Given the description of an element on the screen output the (x, y) to click on. 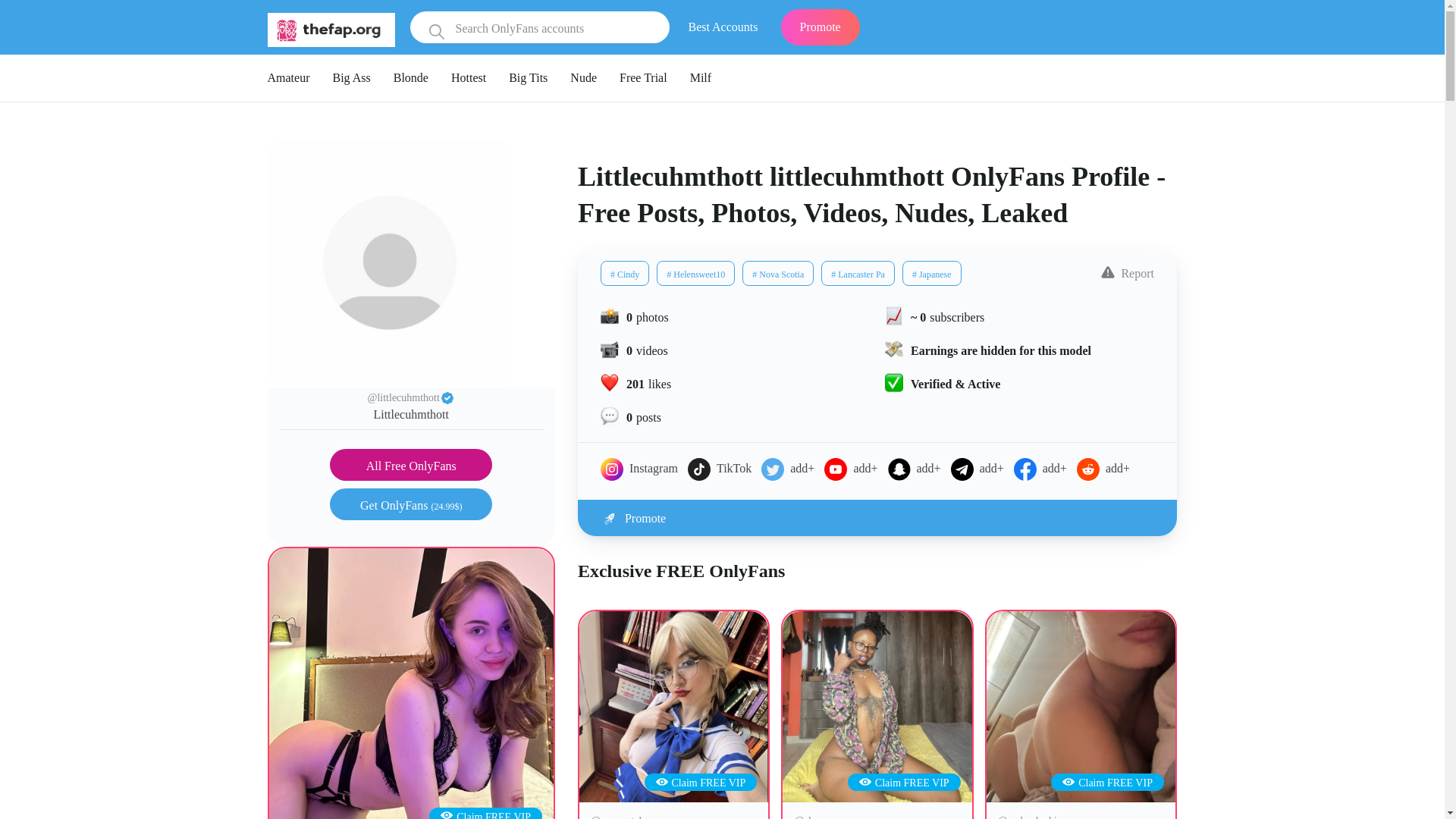
Best Accounts (722, 27)
Big Tits (527, 77)
Blonde (410, 77)
Claim FREE VIP (904, 783)
Claim FREE VIP (700, 783)
Hottest (468, 77)
Nude (583, 77)
Free Trial (643, 77)
ebonyanya (877, 706)
sunnyotaku (673, 706)
Onlyfans Finder (330, 28)
Milf (700, 77)
Claim FREE VIP (486, 815)
Promote (820, 27)
Promote (877, 517)
